Given the description of an element on the screen output the (x, y) to click on. 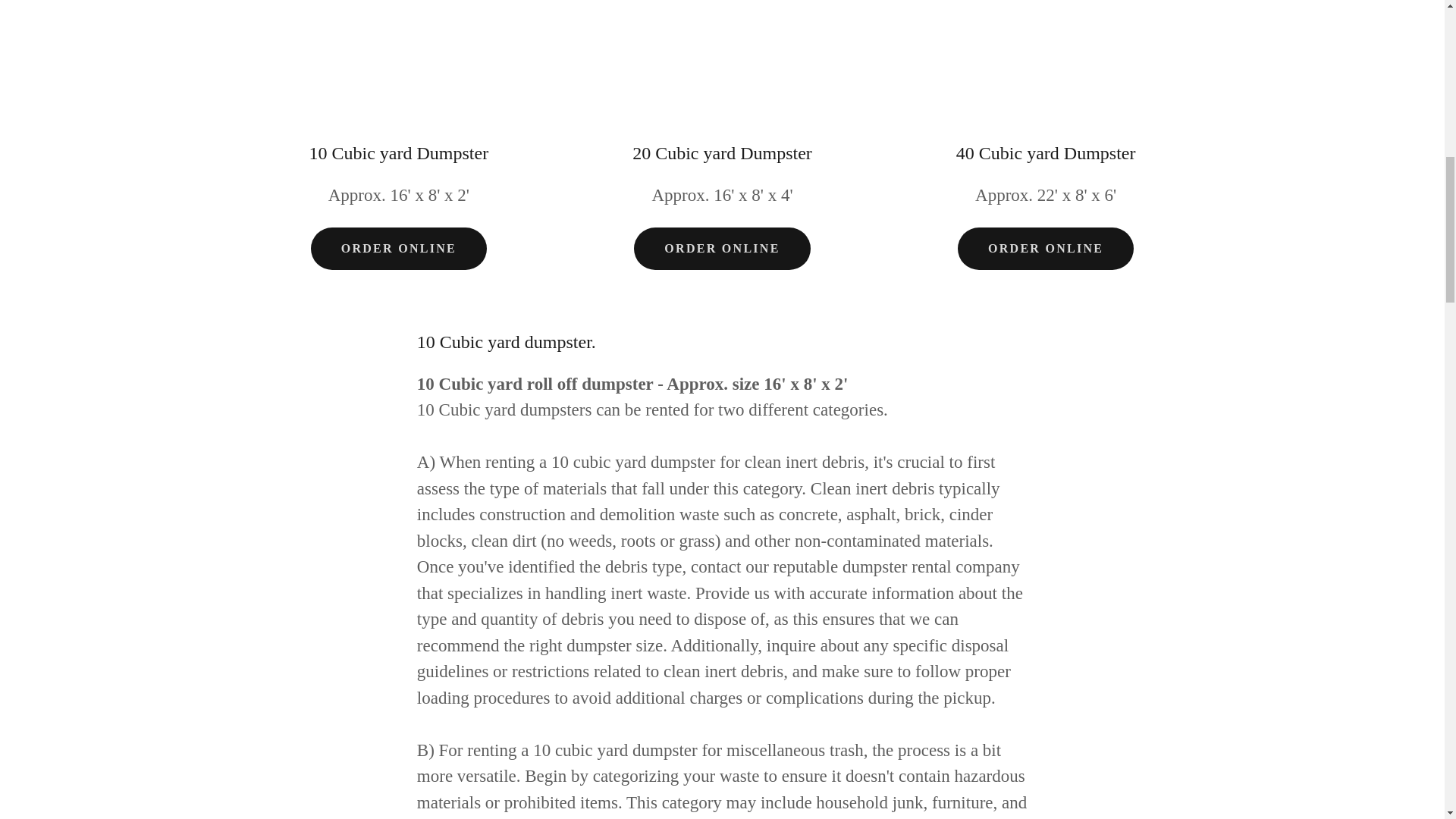
ORDER ONLINE (721, 248)
ORDER ONLINE (1046, 248)
ACCEPT (1274, 324)
ORDER ONLINE (398, 248)
